Given the description of an element on the screen output the (x, y) to click on. 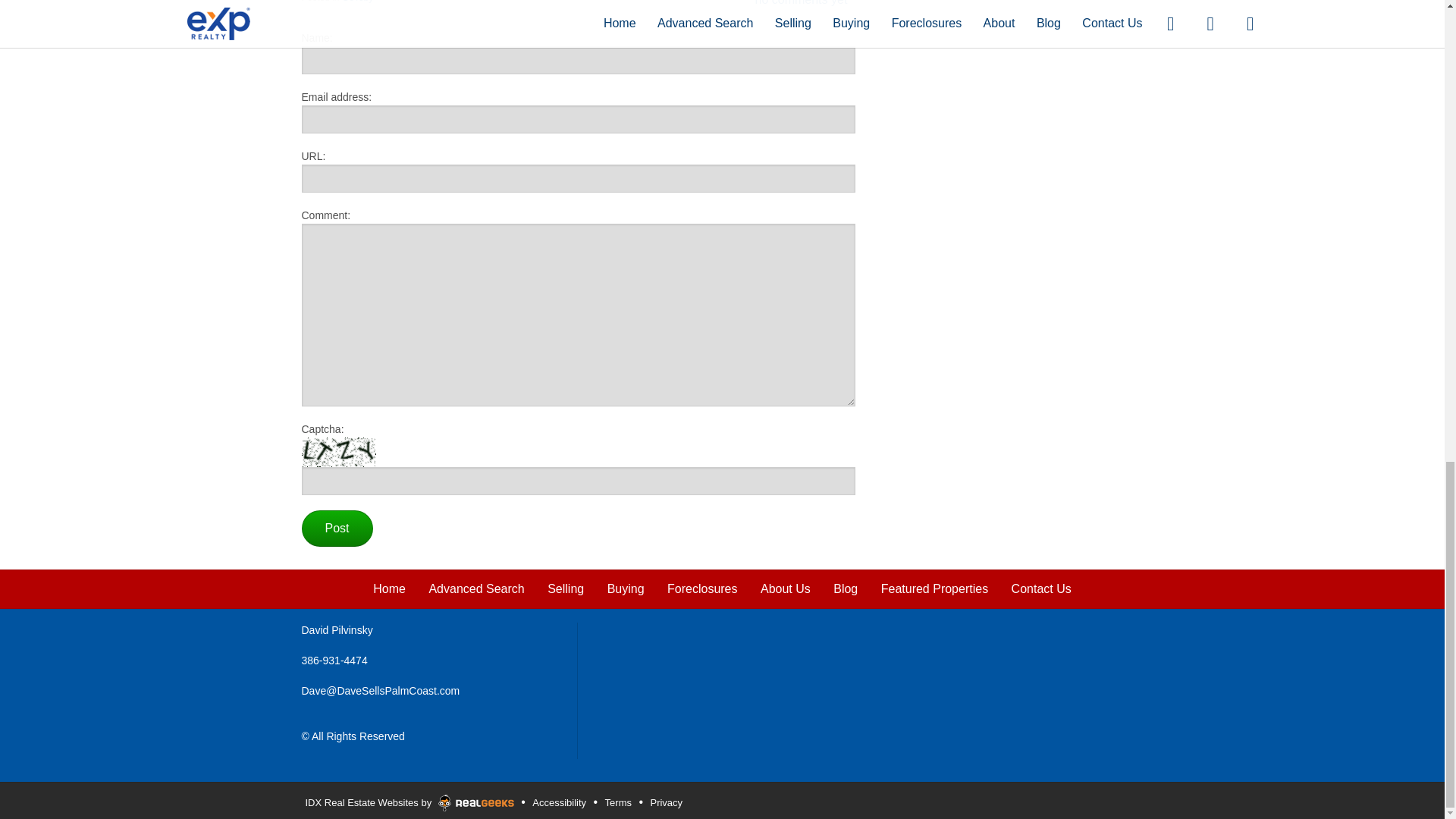
Post (336, 528)
no comments yet (801, 2)
Post (336, 528)
GoToby (357, 1)
